Given the description of an element on the screen output the (x, y) to click on. 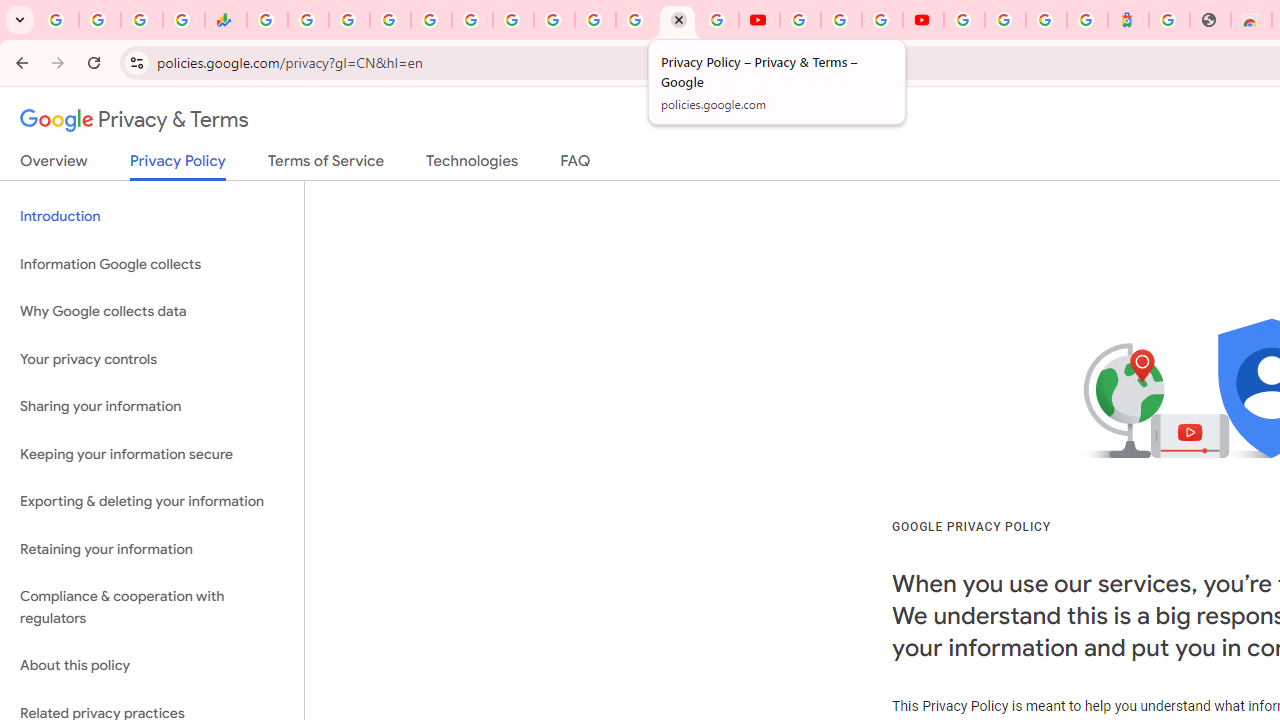
Introduction (152, 216)
Information Google collects (152, 263)
Google Account Help (840, 20)
Sharing your information (152, 407)
Retaining your information (152, 548)
Keeping your information secure (152, 453)
YouTube (553, 20)
Sign in - Google Accounts (964, 20)
